Given the description of an element on the screen output the (x, y) to click on. 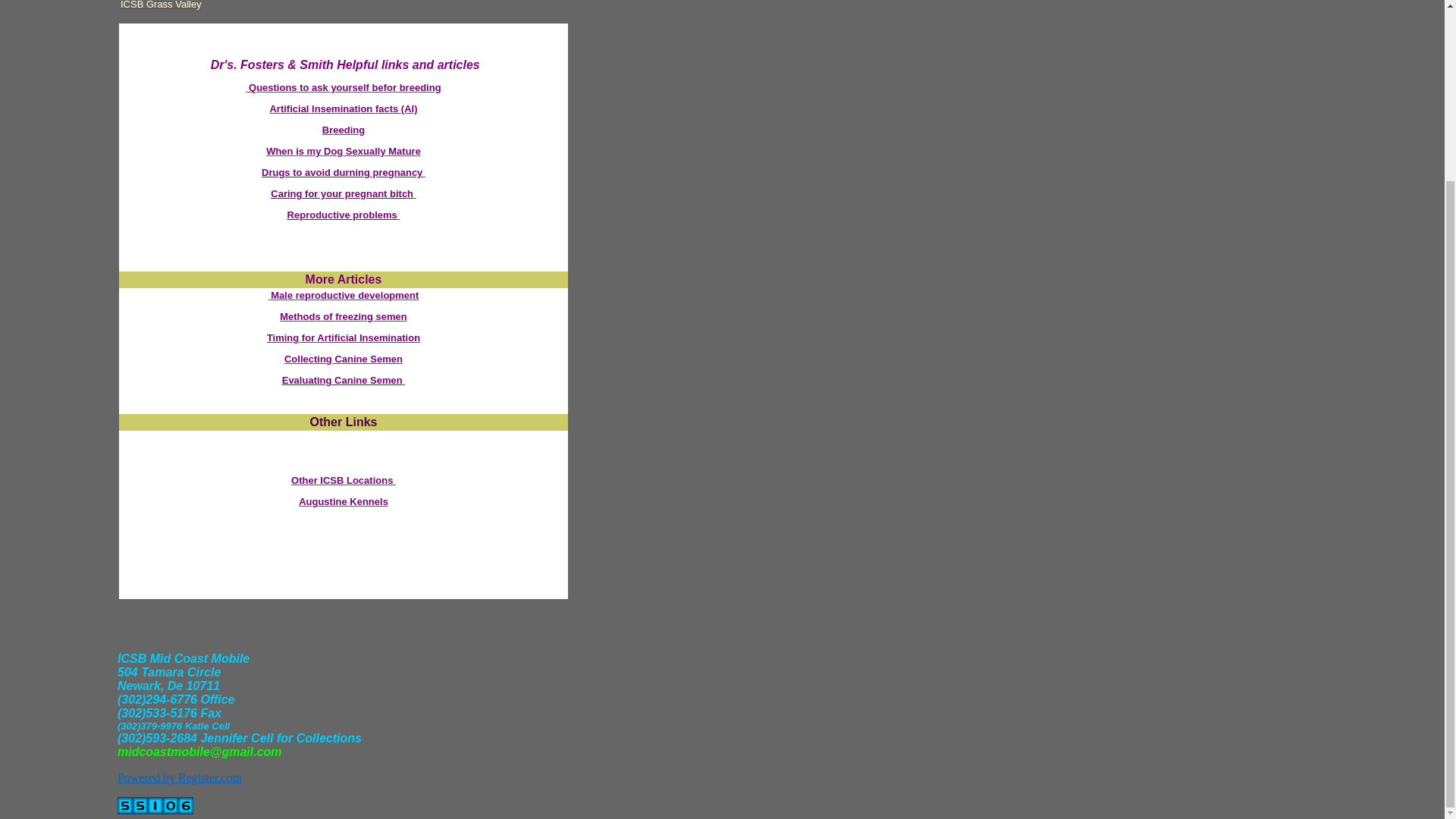
ICSB Grass Valley (161, 4)
Augustine Kennels (343, 501)
Other ICSB Locations  (343, 480)
Timing for Artificial Insemination (343, 337)
Collecting canine semen (343, 358)
Drugs to avoid durning pregnancy  (343, 172)
Semen Evaluation (344, 379)
Powered by Register.com (179, 777)
Reproductive problems  (343, 214)
Evaluating Canine Semen  (344, 379)
Timing for Artificial Insimenation (343, 337)
 Male reproductive development (343, 295)
When is my Dog Sexually Mature (343, 151)
 Questions to ask yourself befor breeding (343, 87)
Caring for your pregnant bitch  (342, 193)
